Given the description of an element on the screen output the (x, y) to click on. 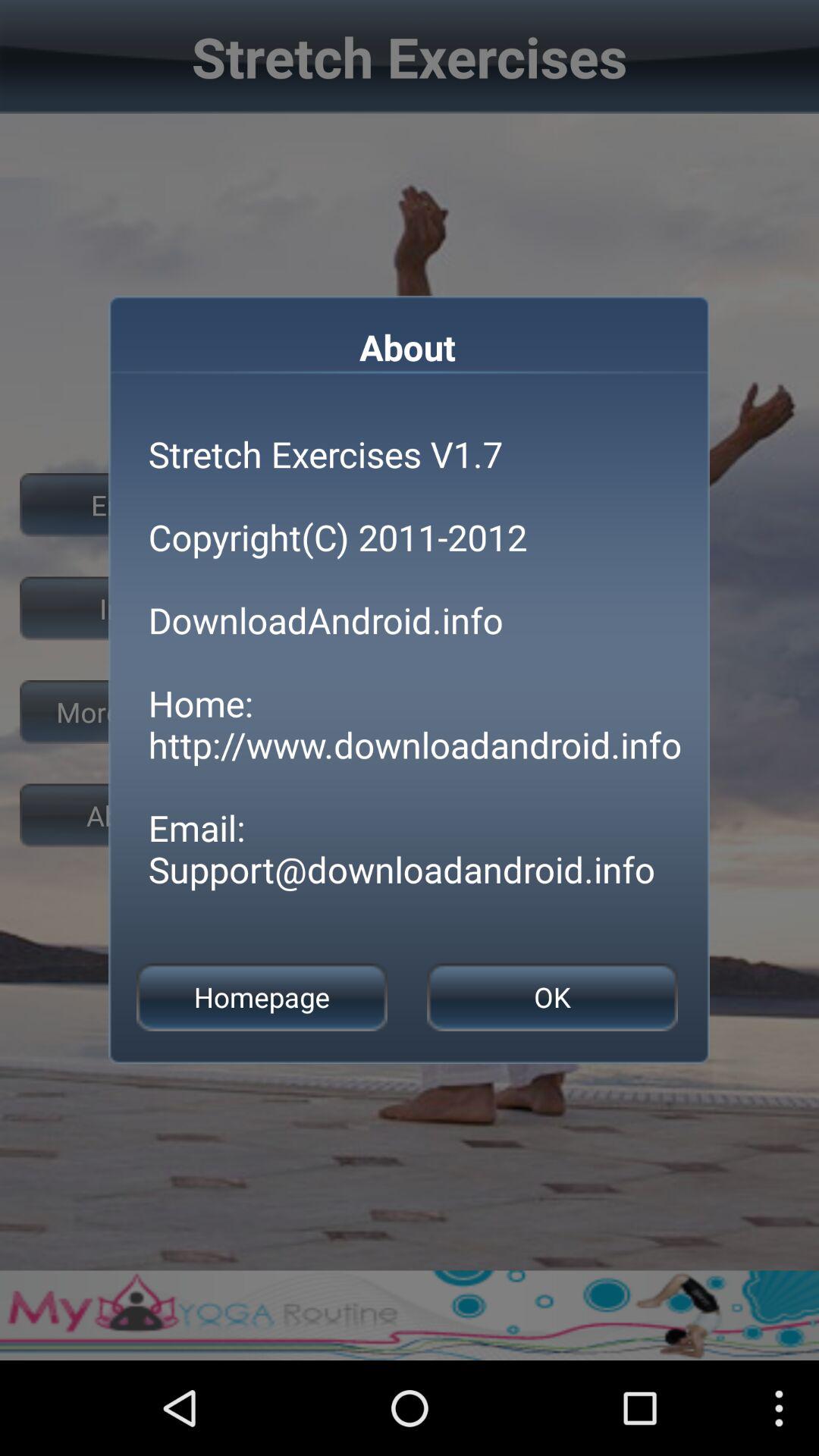
tap item next to homepage (552, 997)
